Given the description of an element on the screen output the (x, y) to click on. 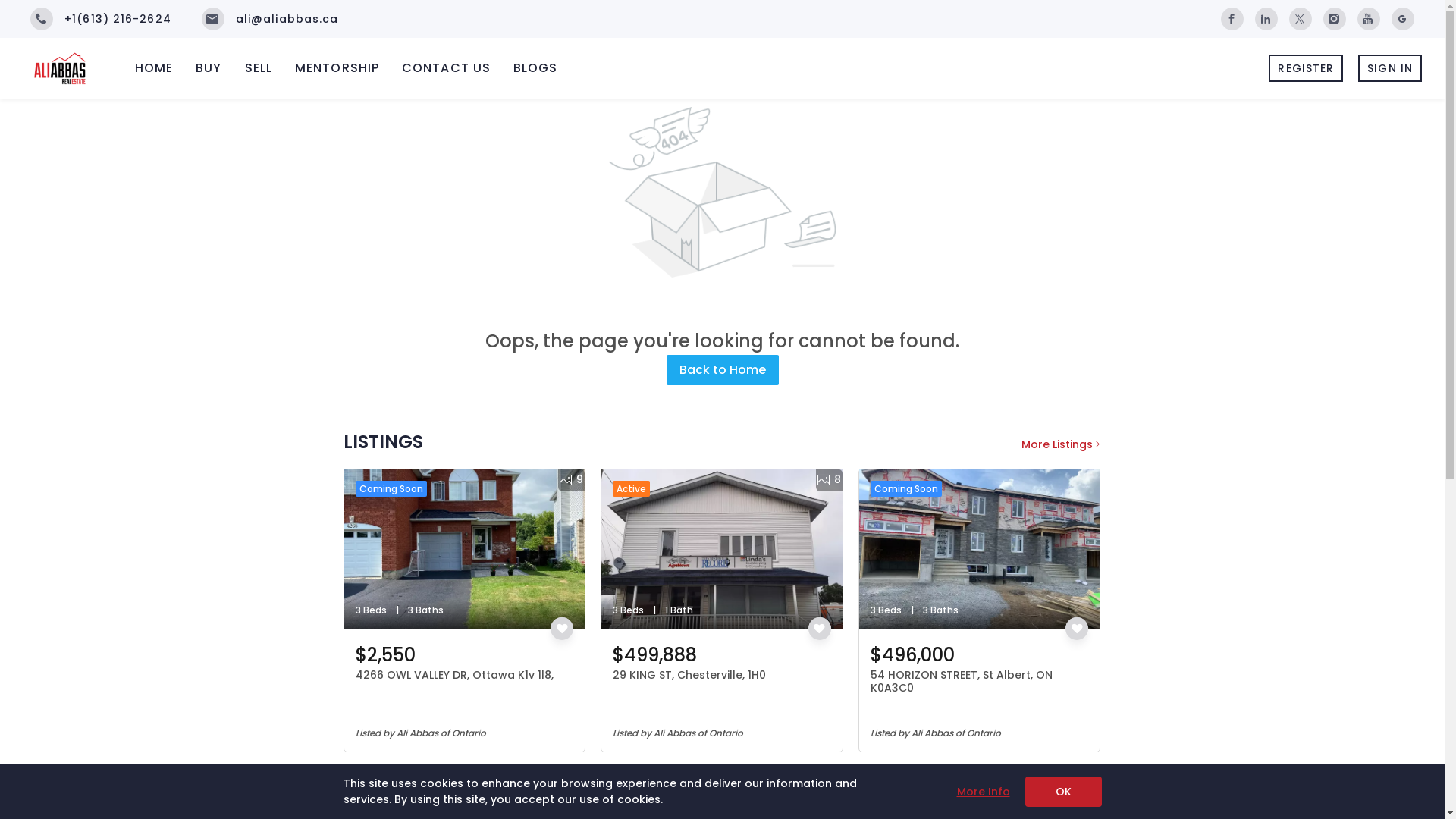
4266 OWL VALLEY DR, Ottawa K1v 1l8, Element type: text (453, 674)
3 Beds
1 Bath
8 Element type: text (721, 548)
More Info Element type: text (983, 792)
+1(613) 216-2624 Element type: text (100, 18)
SELL Element type: text (258, 68)
ali@aliabbas.ca Element type: text (269, 18)
CONTACT US Element type: text (445, 68)
Back to Home Element type: text (721, 369)
29 KING ST, Chesterville, 1H0 Element type: text (688, 674)
BUY Element type: text (208, 68)
3 Beds
3 Baths Element type: text (979, 548)
BLOGS Element type: text (535, 68)
54 HORIZON STREET, St Albert, ON K0A3C0 Element type: text (961, 681)
More Listings Element type: text (1060, 444)
HOME Element type: text (153, 68)
MENTORSHIP Element type: text (336, 68)
3 Beds
3 Baths
9 Element type: text (464, 548)
